Given the description of an element on the screen output the (x, y) to click on. 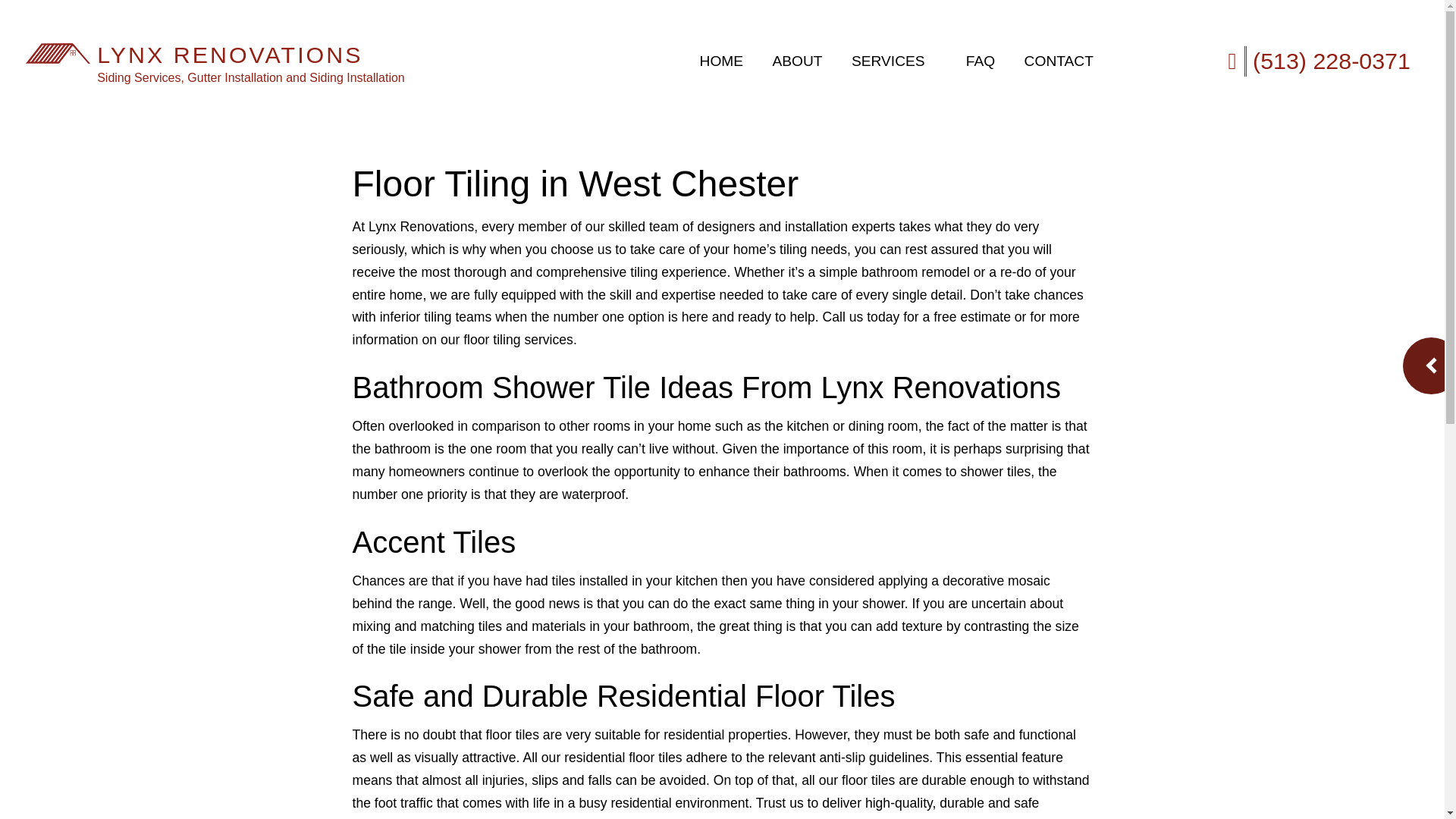
Lynx Renovations (58, 51)
SERVICES (894, 61)
